Given the description of an element on the screen output the (x, y) to click on. 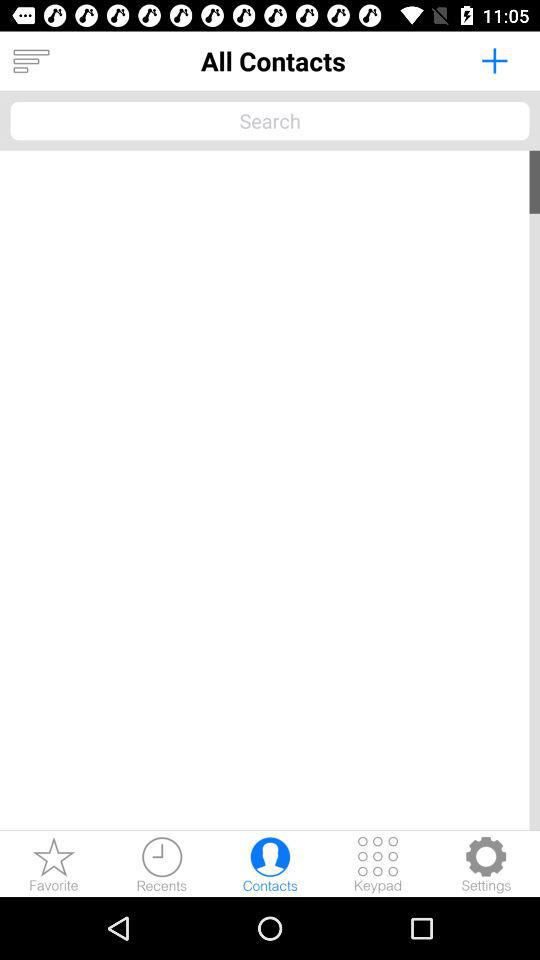
view favorites (53, 864)
